Given the description of an element on the screen output the (x, y) to click on. 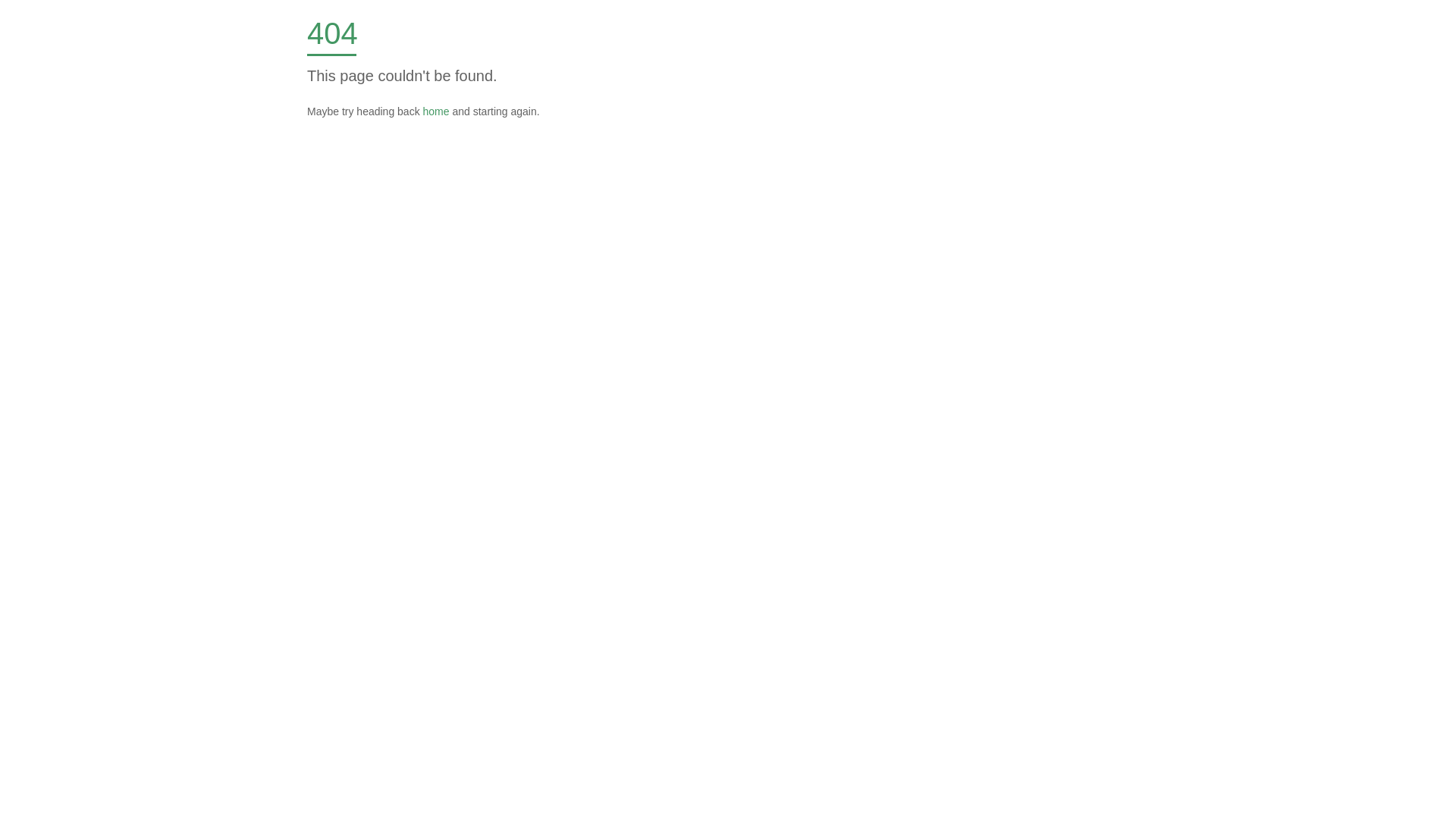
home Element type: text (436, 111)
